Given the description of an element on the screen output the (x, y) to click on. 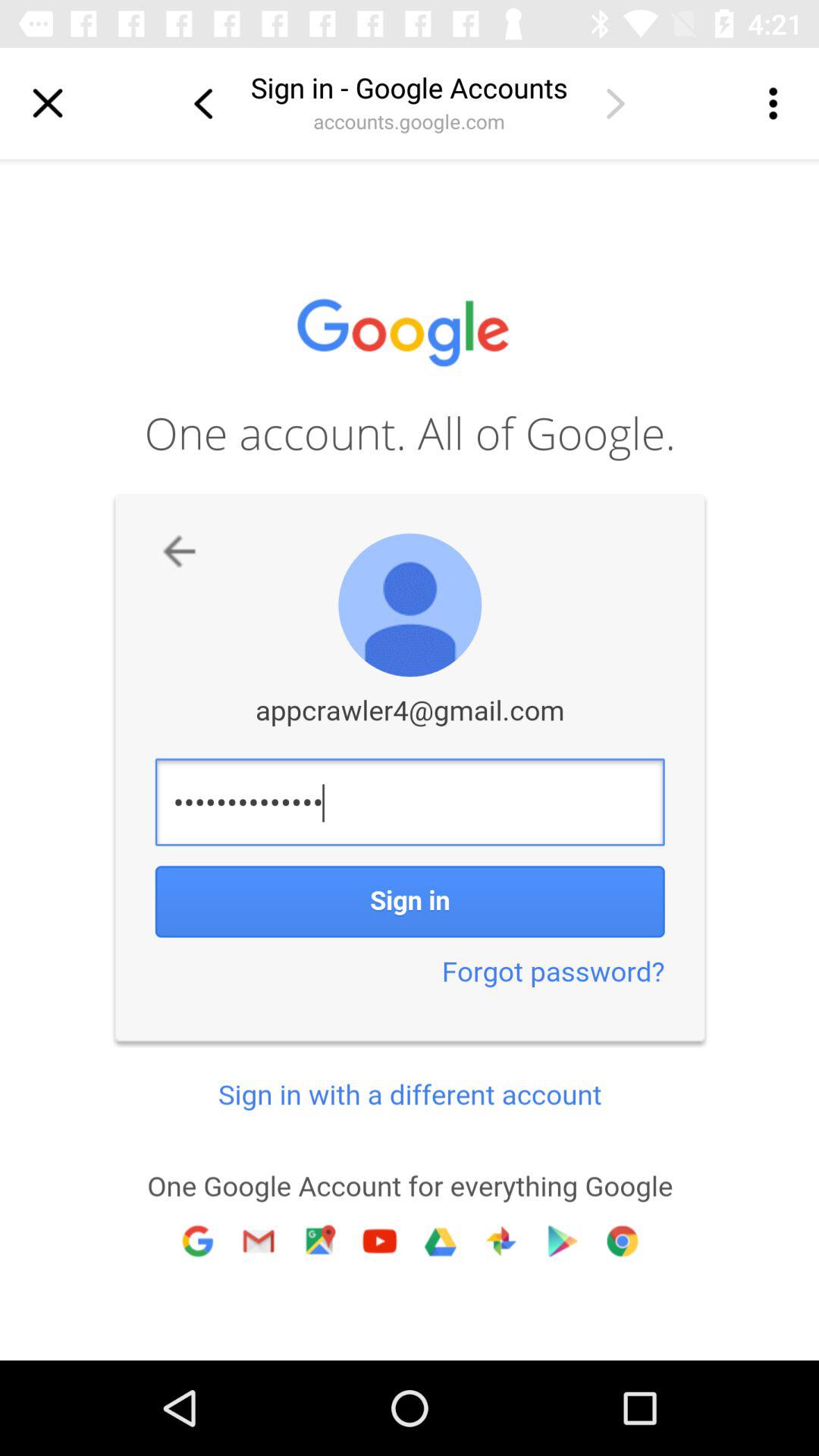
more options (771, 103)
